Given the description of an element on the screen output the (x, y) to click on. 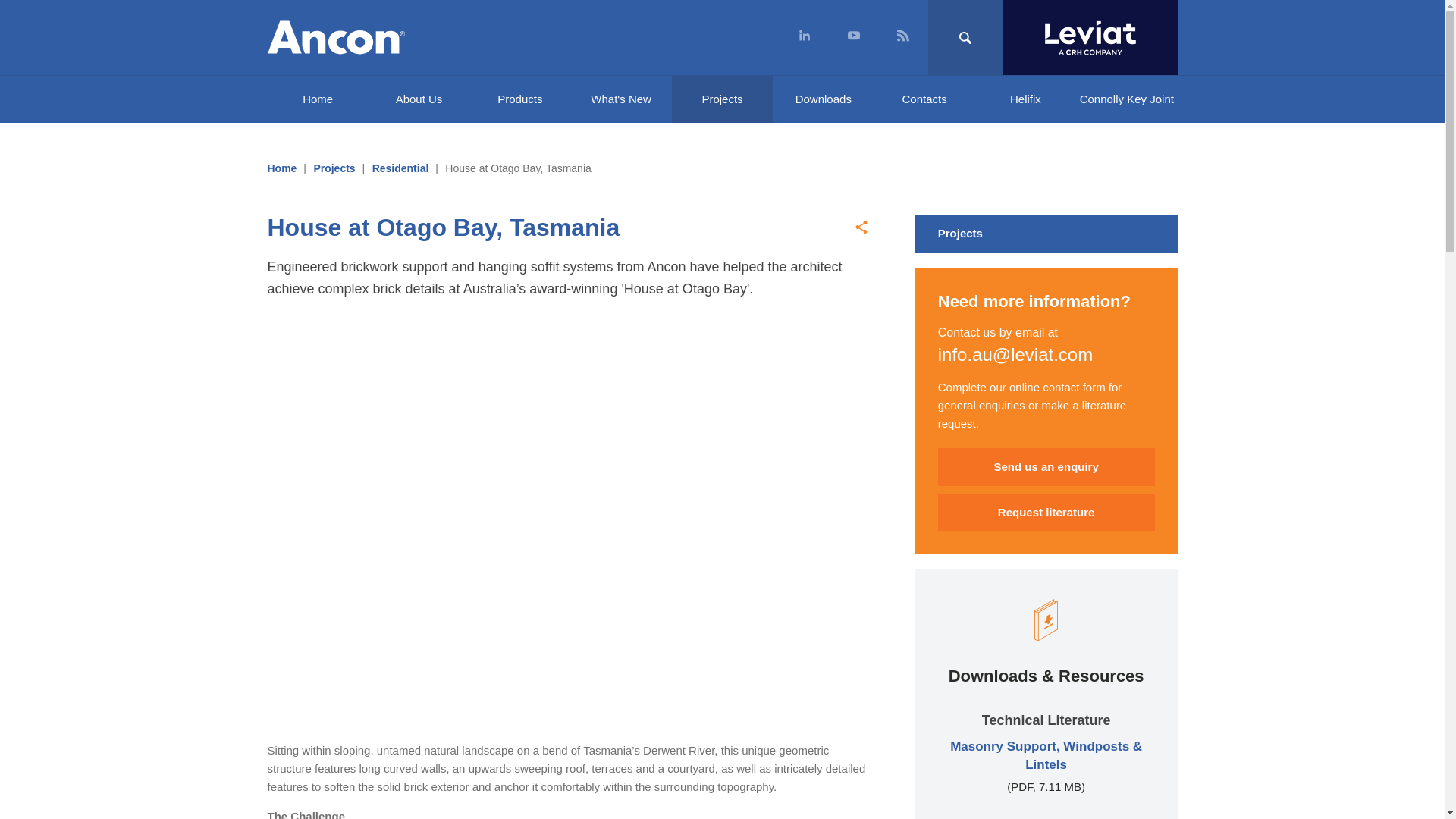
Send us an enquiry (1045, 466)
Products (519, 99)
Residential (400, 168)
Connolly Key Joint (1125, 99)
Home (281, 168)
Request literature (1045, 512)
Contacts (923, 99)
About Us (418, 99)
Projects (722, 99)
Projects (1046, 233)
